Given the description of an element on the screen output the (x, y) to click on. 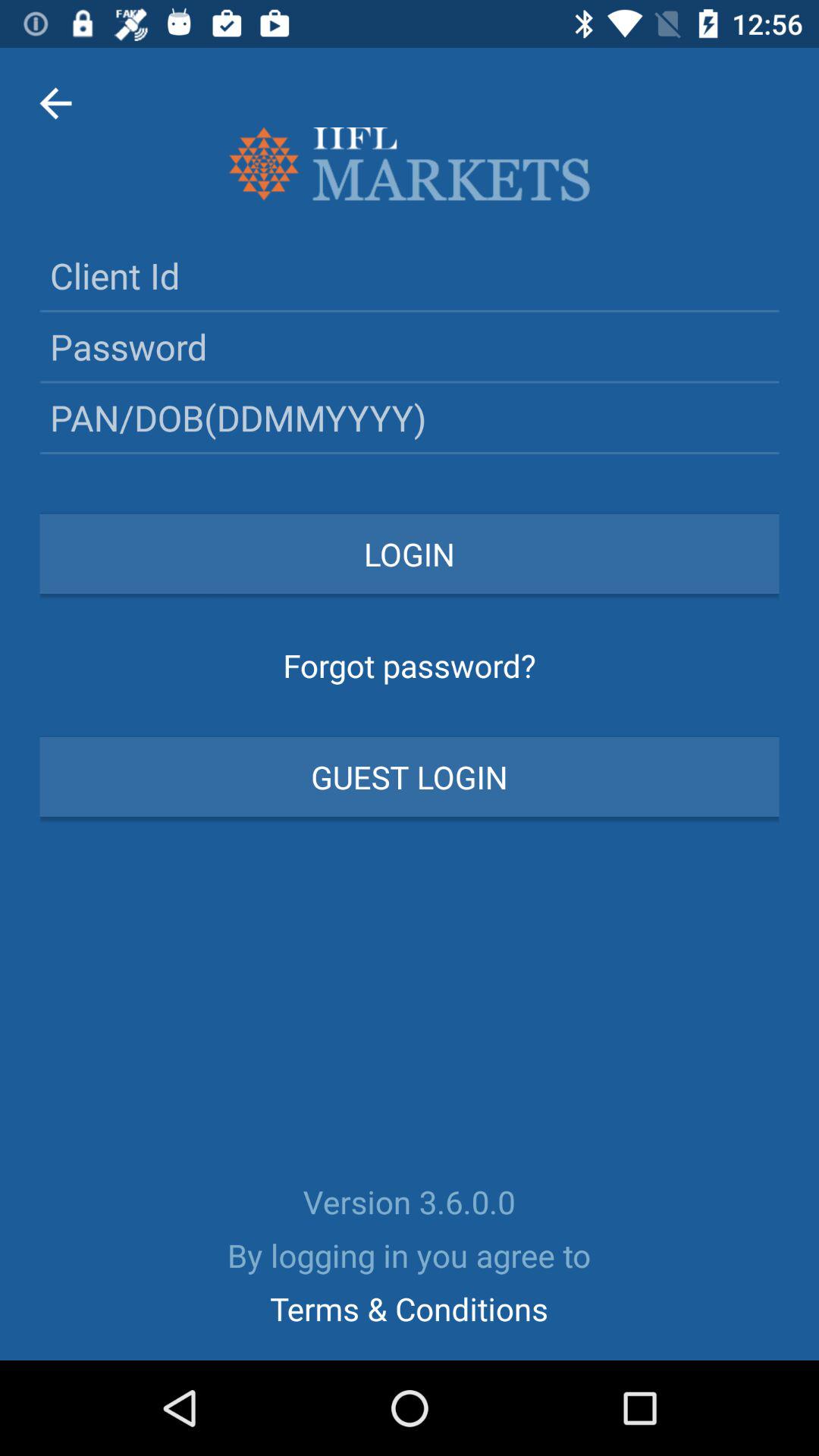
enter client id (409, 275)
